Given the description of an element on the screen output the (x, y) to click on. 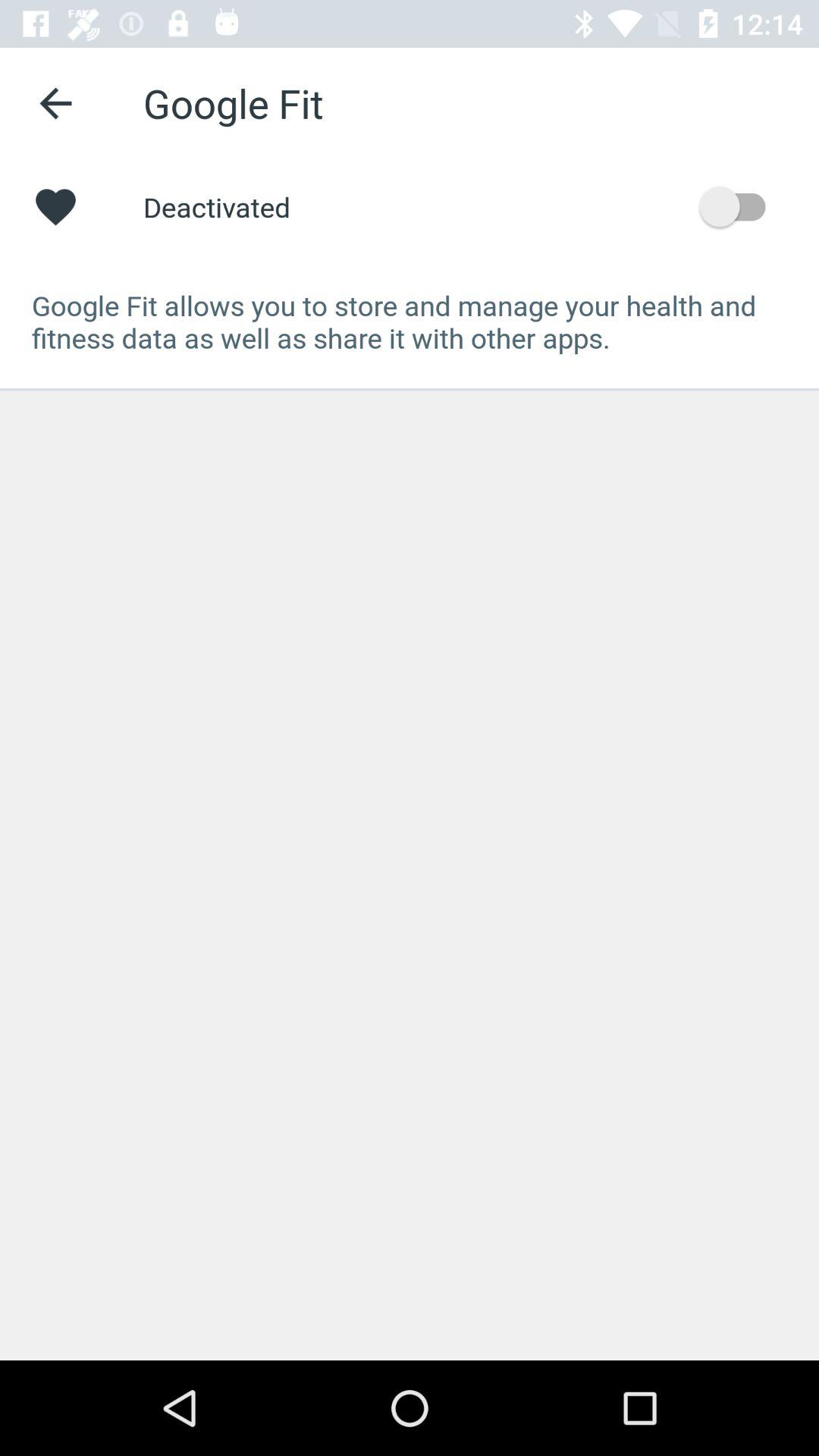
turn off the icon above the google fit allows (739, 206)
